Given the description of an element on the screen output the (x, y) to click on. 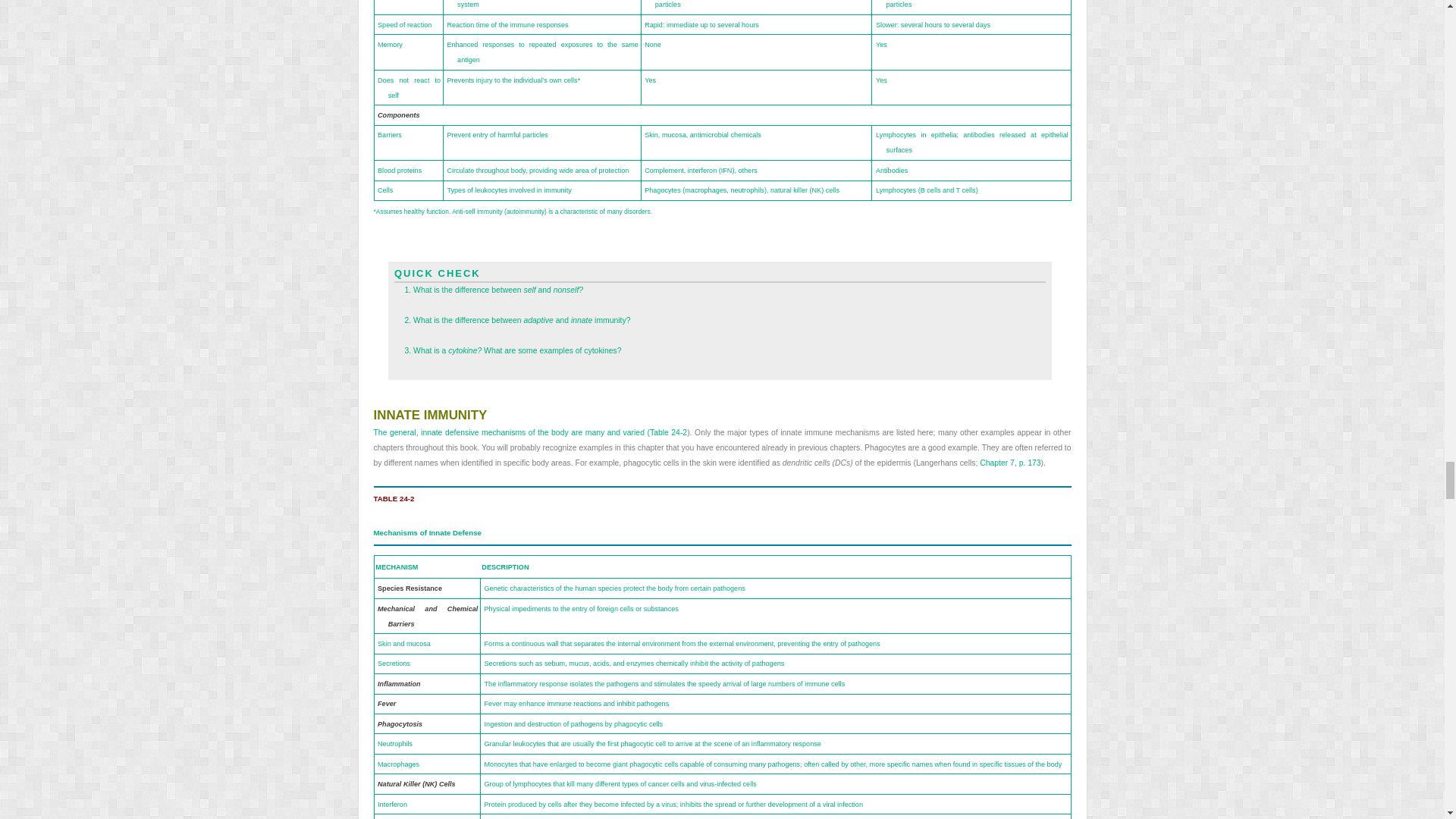
747 (721, 320)
